Given the description of an element on the screen output the (x, y) to click on. 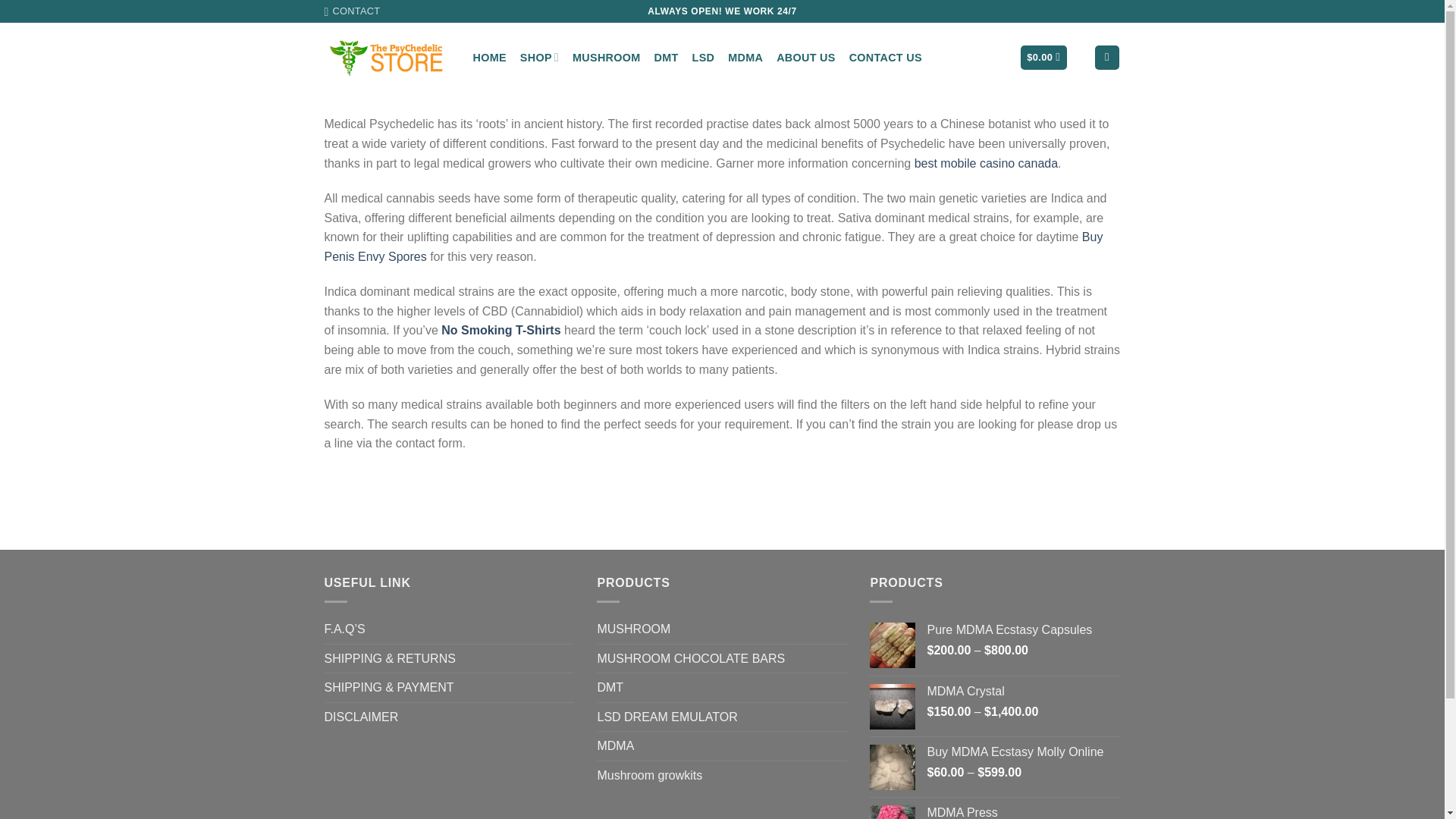
SHOP (539, 57)
MDMA (745, 57)
MUSHROOM (606, 57)
ABOUT US (805, 57)
DMT (609, 687)
Buy MDMA Ecstasy Molly Online (1022, 752)
The Psychedelic Store - Weed for sales USA (386, 57)
CONTACT (352, 11)
MDMA Press (1022, 812)
MDMA (614, 746)
